Given the description of an element on the screen output the (x, y) to click on. 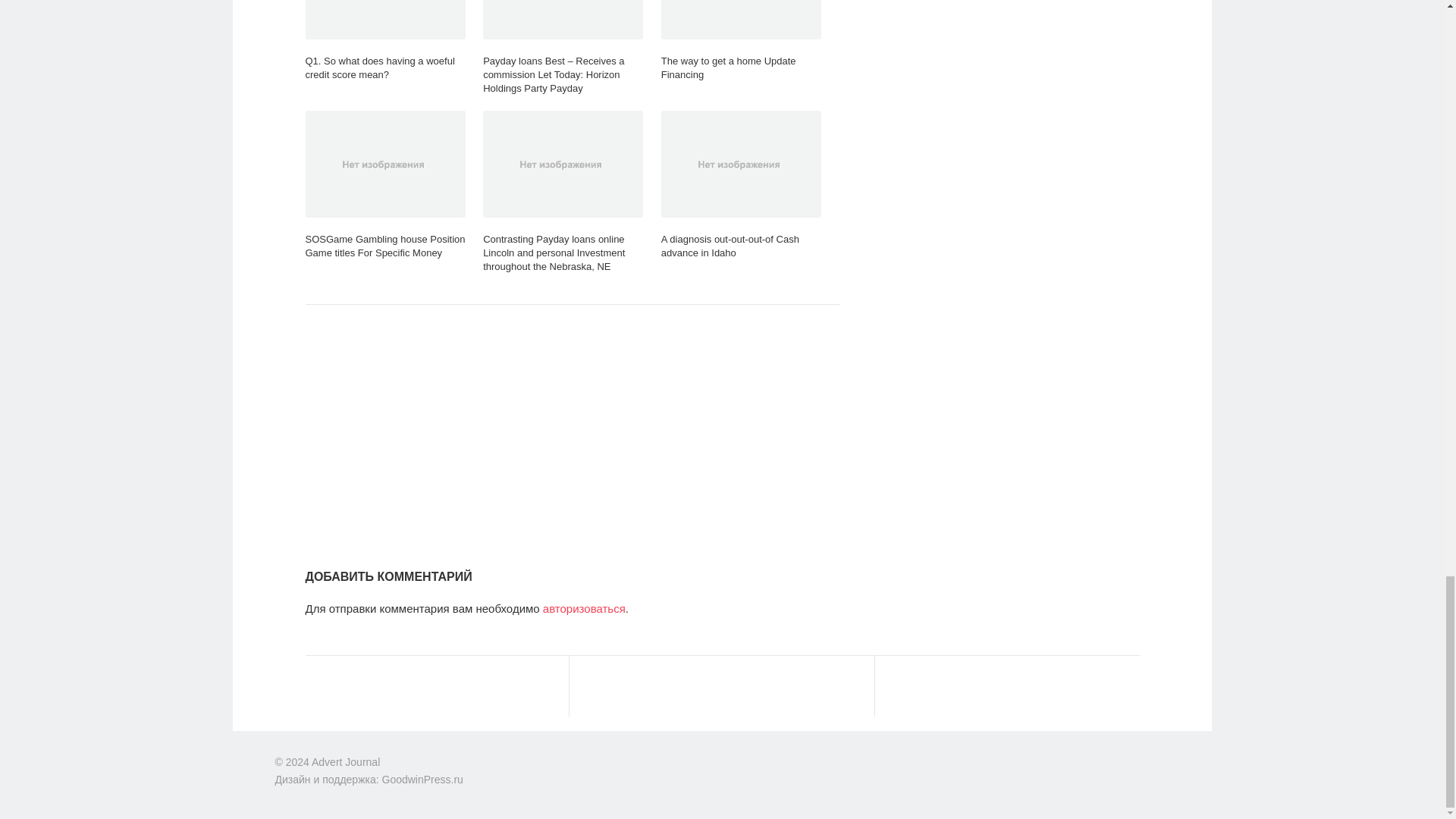
Q1. So what does having a woeful credit score mean? (384, 40)
Advertisement (571, 433)
A diagnosis out-out-out-of Cash advance in Idaho (741, 185)
The way to get a home Update Financing (741, 40)
